Given the description of an element on the screen output the (x, y) to click on. 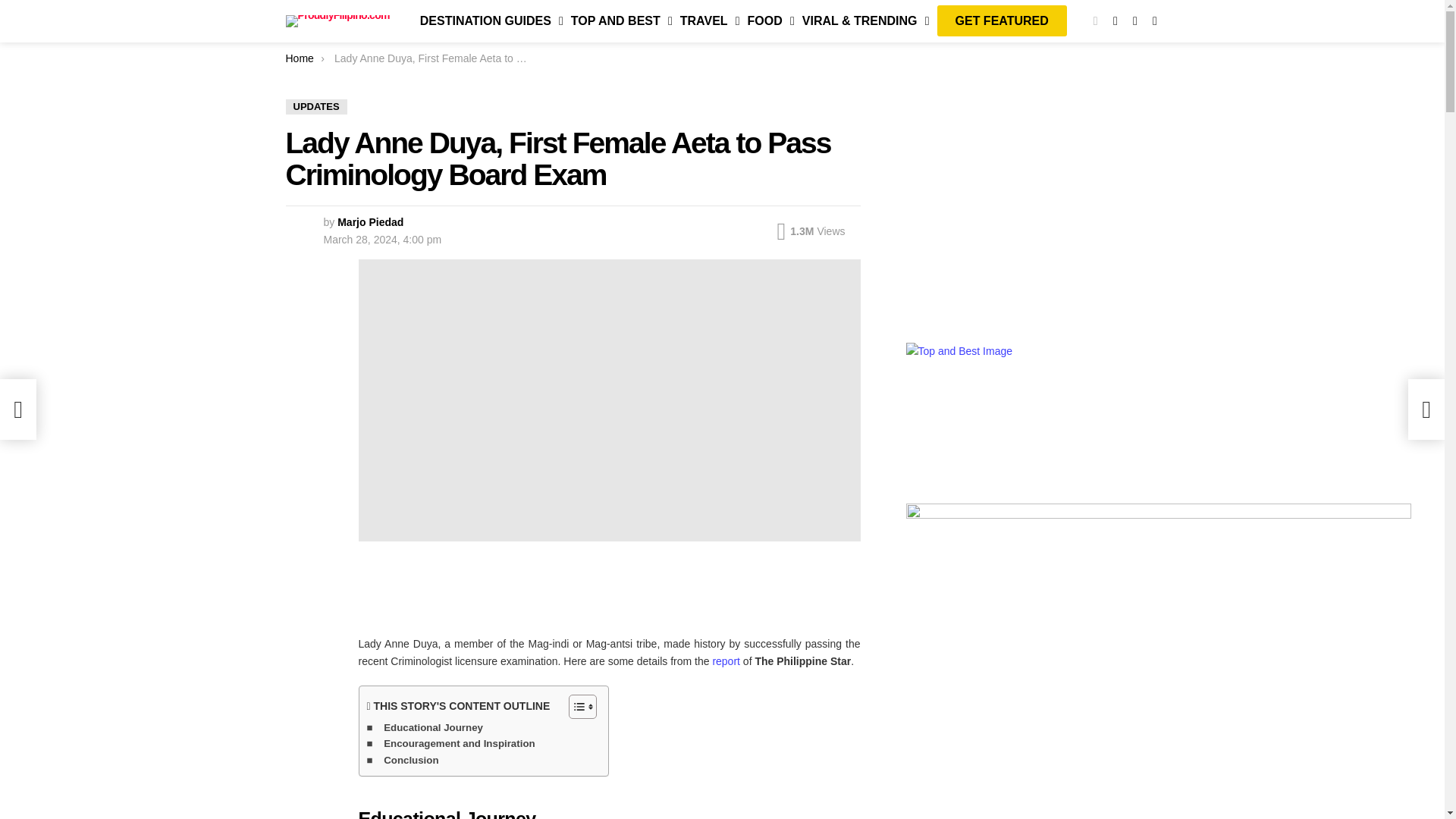
DESTINATION GUIDES (487, 20)
FOOD (766, 20)
GET FEATURED (1002, 20)
TOP AND BEST (617, 20)
TRAVEL (705, 20)
